Given the description of an element on the screen output the (x, y) to click on. 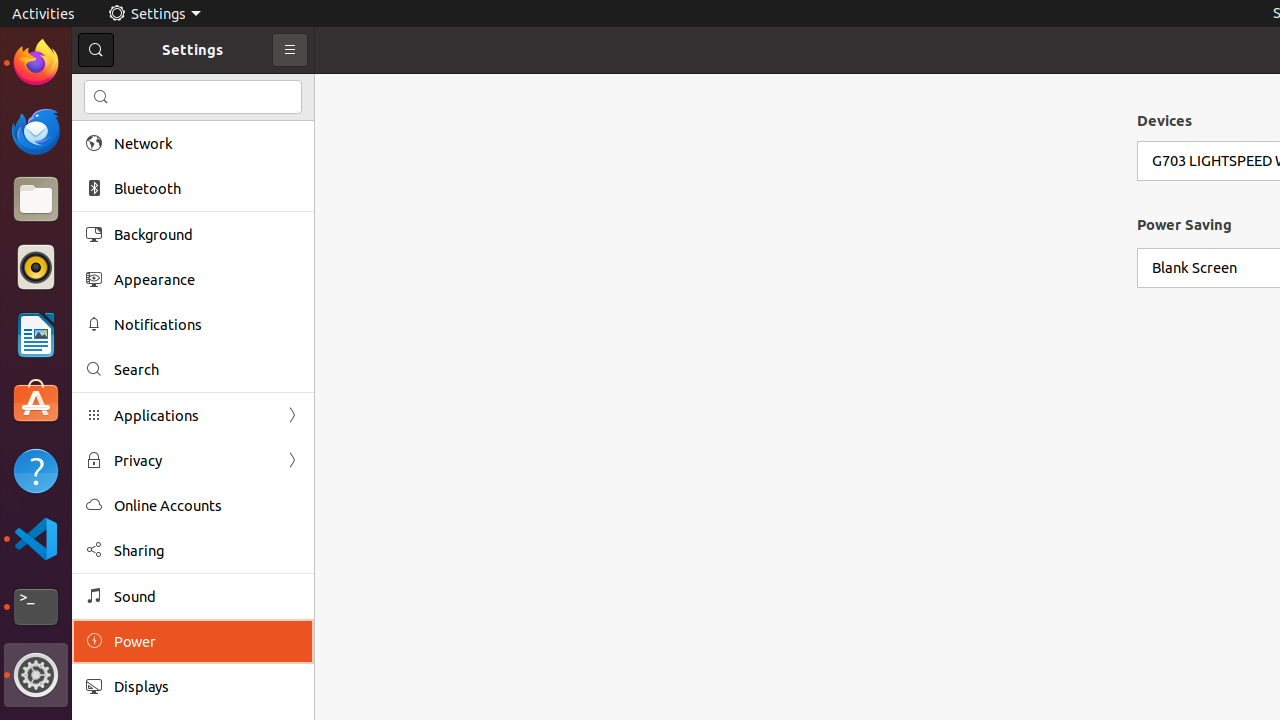
Privacy Element type: label (193, 460)
Settings Element type: push-button (36, 675)
